Given the description of an element on the screen output the (x, y) to click on. 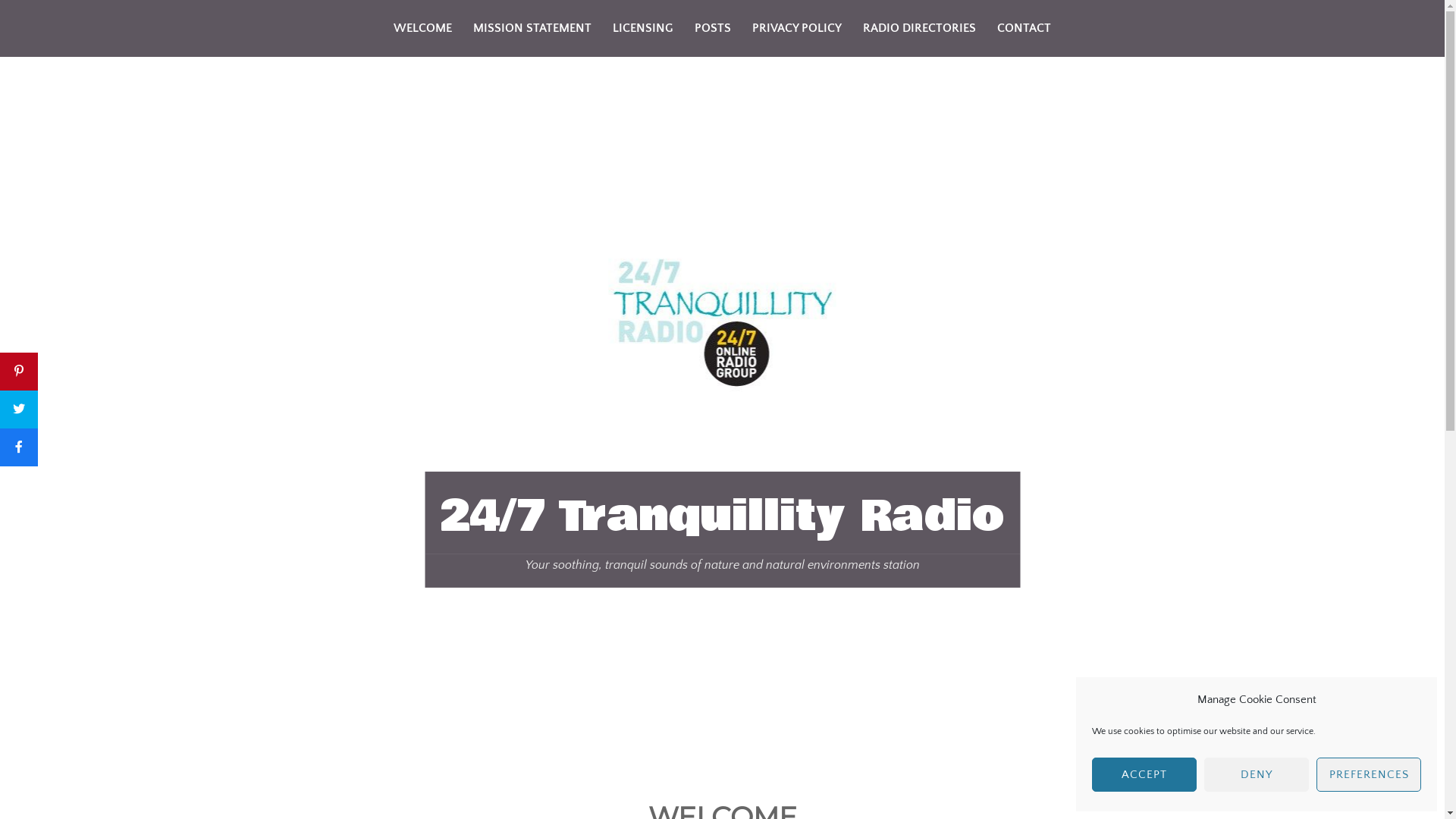
ACCEPT Element type: text (1144, 774)
DENY Element type: text (1256, 774)
POSTS Element type: text (712, 28)
WELCOME Element type: text (422, 28)
MISSION STATEMENT Element type: text (532, 28)
CONTACT Element type: text (1024, 28)
PREFERENCES Element type: text (1368, 774)
24/7 Tranquillity Radio Element type: text (721, 516)
PRIVACY POLICY Element type: text (796, 28)
RADIO DIRECTORIES Element type: text (919, 28)
LICENSING Element type: text (642, 28)
